Given the description of an element on the screen output the (x, y) to click on. 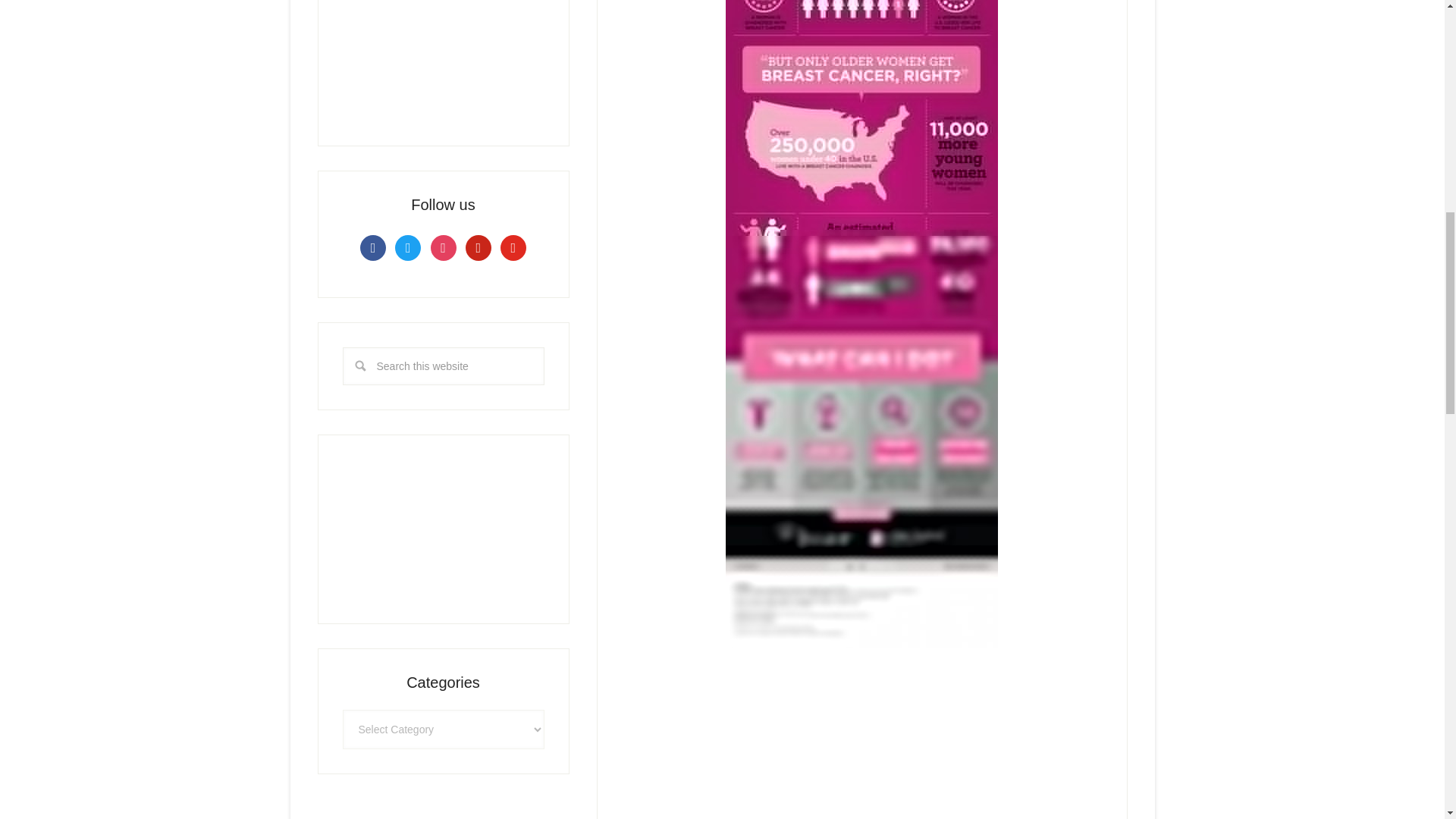
Facebook (372, 246)
Instagram (443, 246)
Twitter (407, 246)
Default Label (478, 246)
Default Label (512, 246)
